Given the description of an element on the screen output the (x, y) to click on. 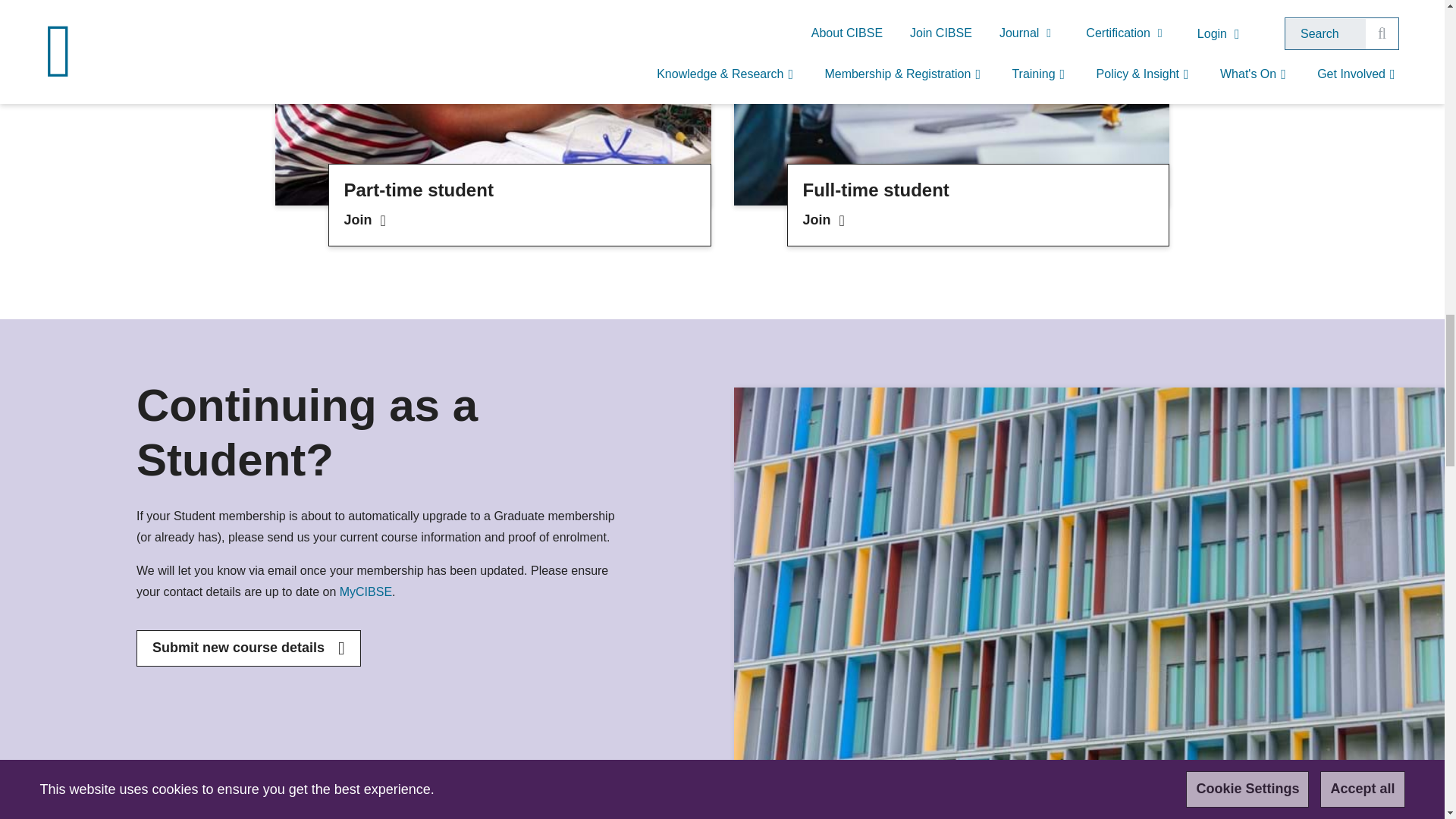
Login (365, 591)
